Given the description of an element on the screen output the (x, y) to click on. 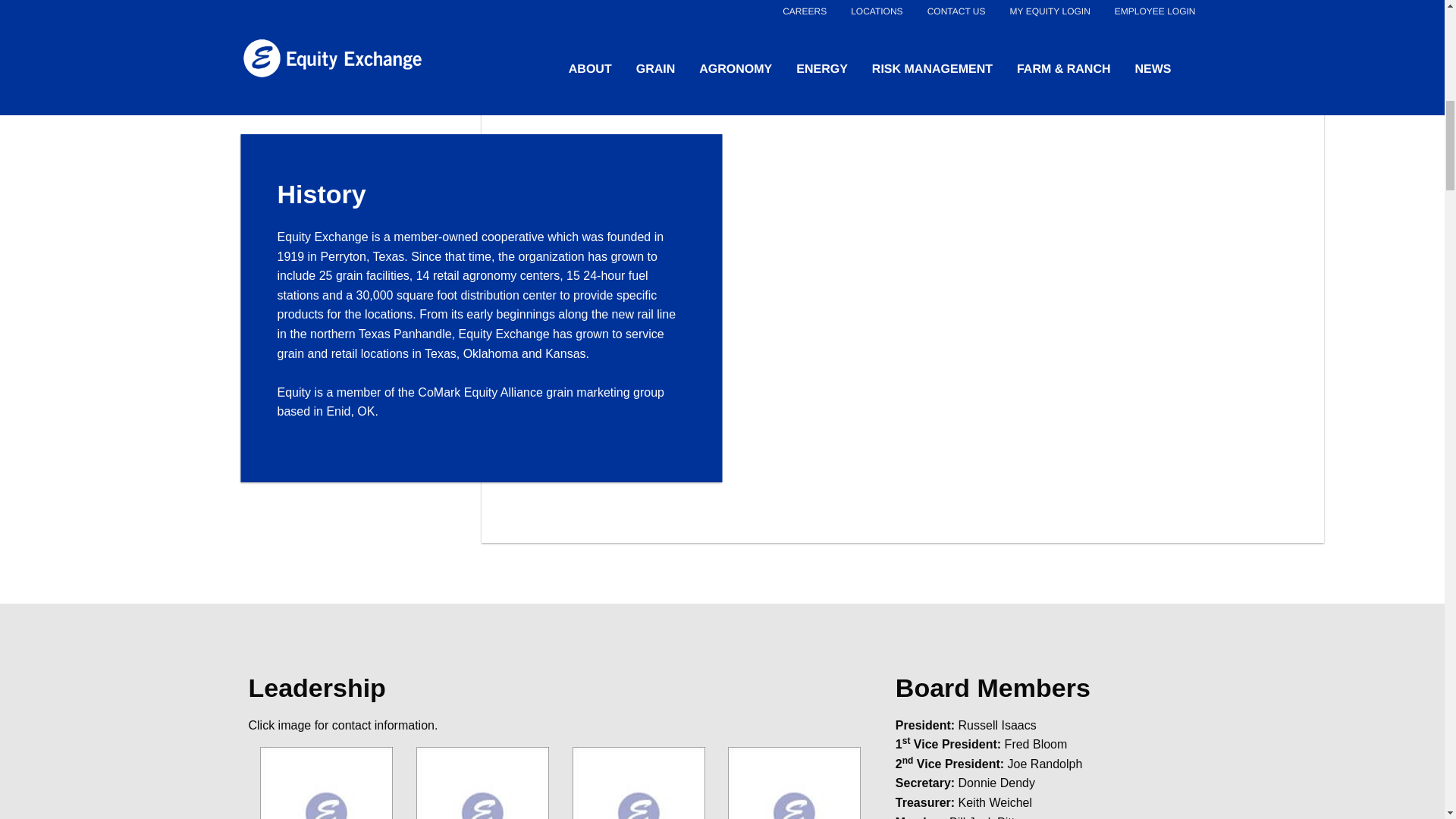
Kelly Seemann (482, 782)
James Culp (638, 782)
Phil Symons (794, 782)
Shawn Hughes (326, 782)
